Given the description of an element on the screen output the (x, y) to click on. 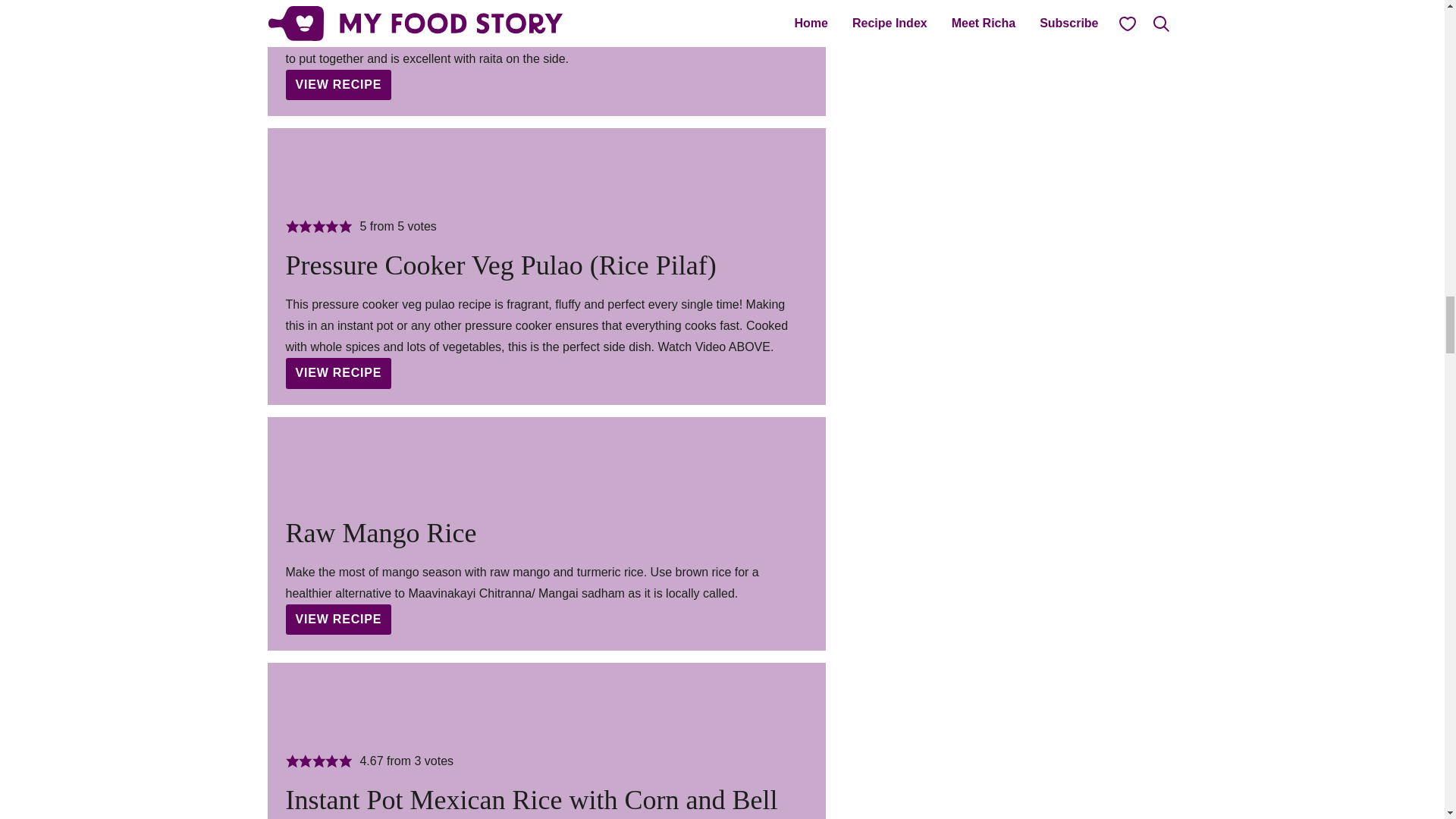
VIEW RECIPE (338, 84)
VIEW RECIPE (338, 372)
VIEW RECIPE (338, 619)
